Given the description of an element on the screen output the (x, y) to click on. 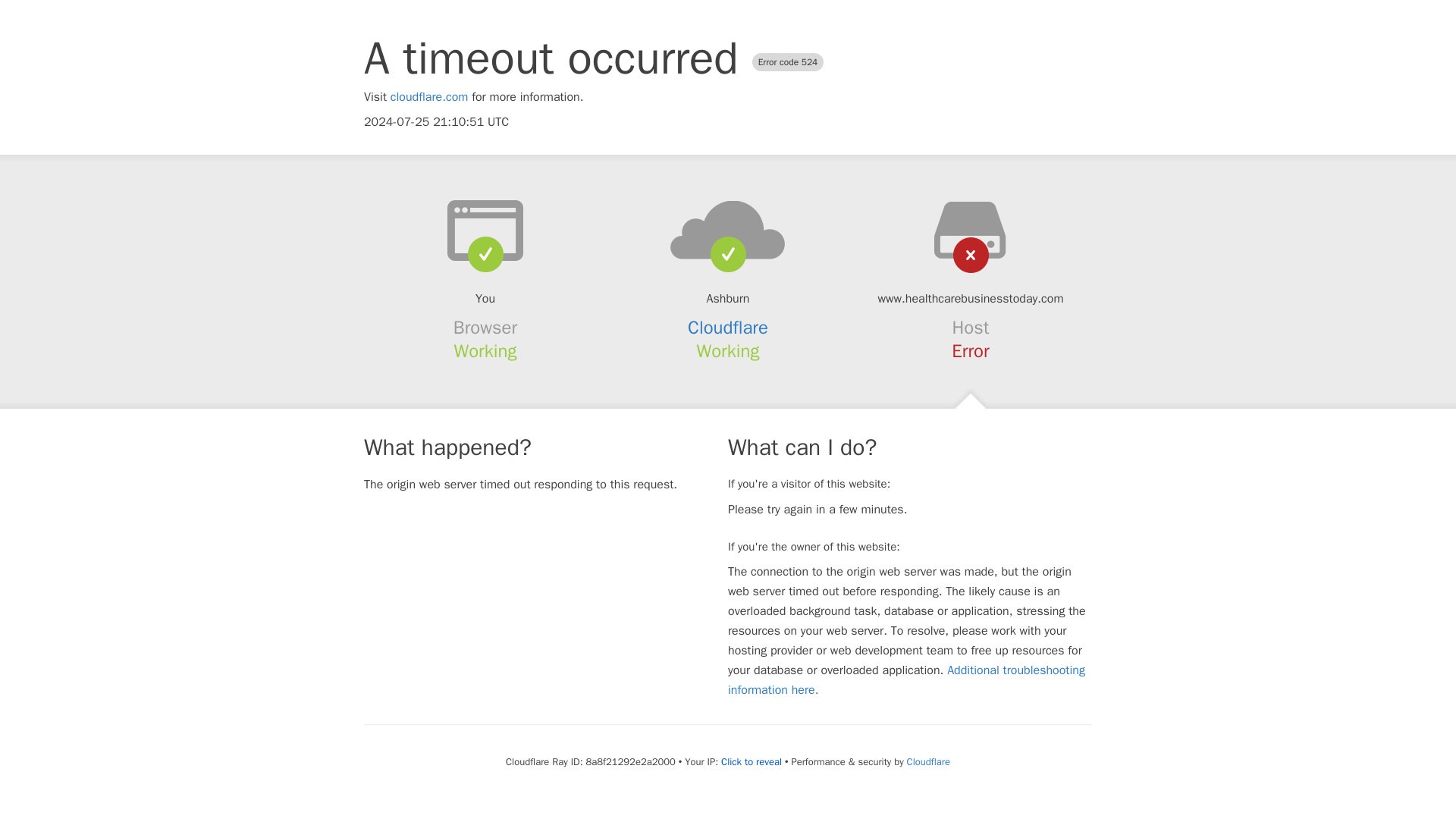
Click to reveal (750, 762)
Cloudflare (928, 761)
cloudflare.com (429, 96)
Cloudflare (727, 327)
Additional troubleshooting information here. (906, 679)
